Given the description of an element on the screen output the (x, y) to click on. 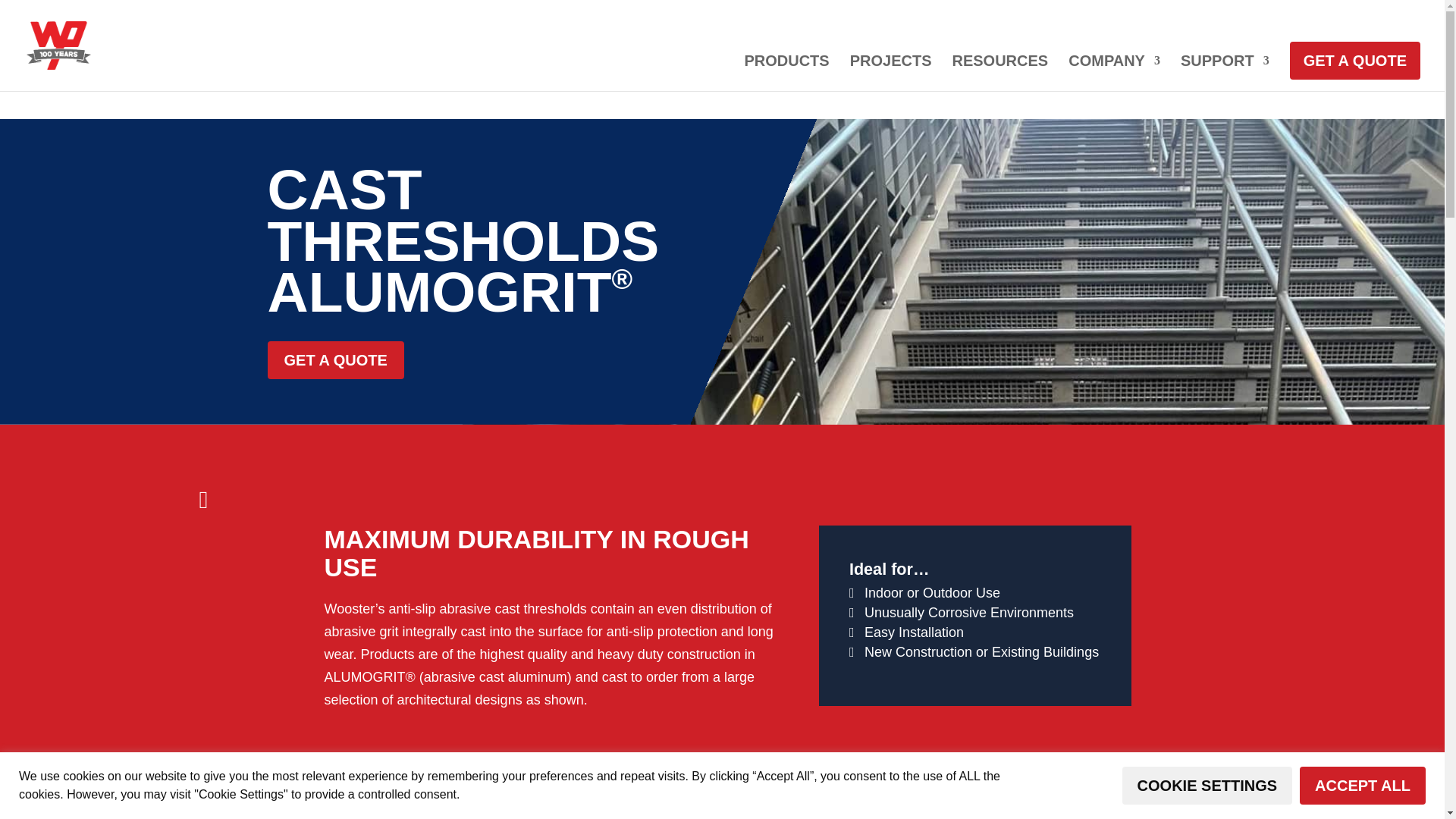
PRODUCTS (786, 72)
GET A QUOTE (1355, 60)
GET A QUOTE (334, 360)
PROJECTS (890, 72)
RESOURCES (1000, 72)
SUPPORT (1224, 72)
COMPANY (1114, 72)
